Given the description of an element on the screen output the (x, y) to click on. 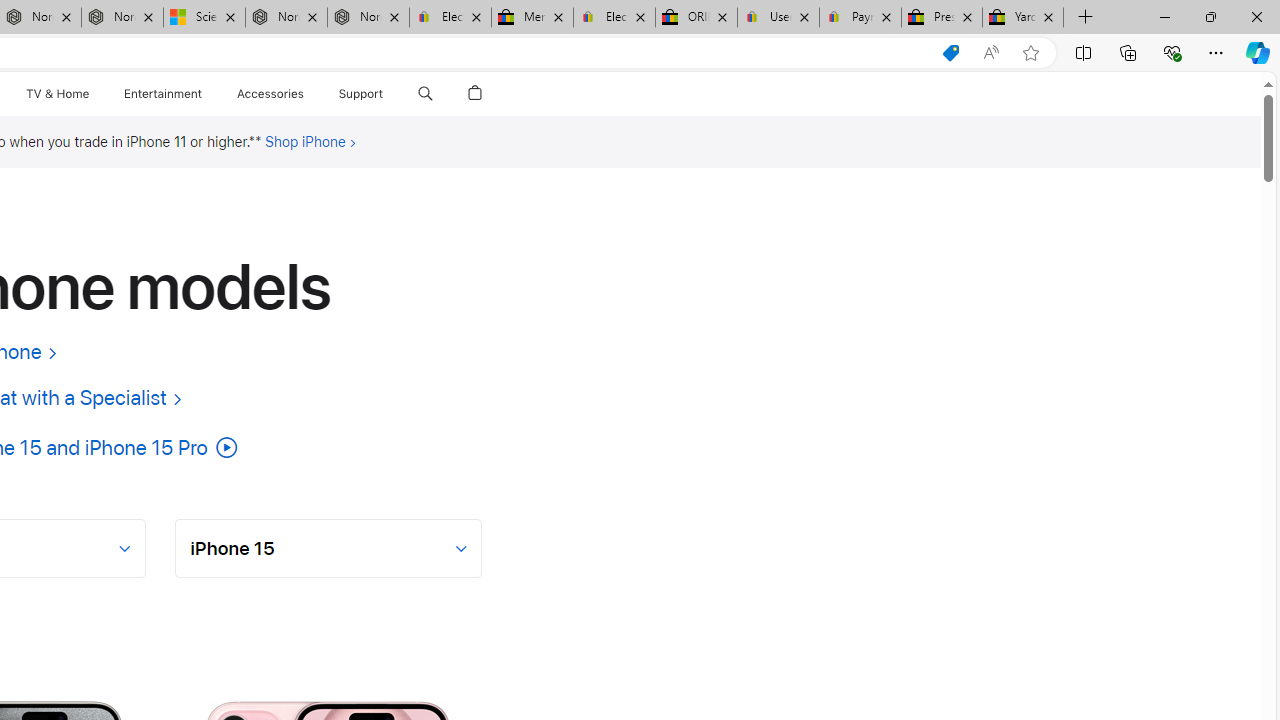
Footnote ** symbol (255, 141)
Payments Terms of Use | eBay.com (860, 17)
Support menu (387, 93)
TV and Home menu (92, 93)
AutomationID: selector-2 (329, 547)
Press Room - eBay Inc. (941, 17)
Support (361, 93)
Nordace - FAQ (368, 17)
